Given the description of an element on the screen output the (x, y) to click on. 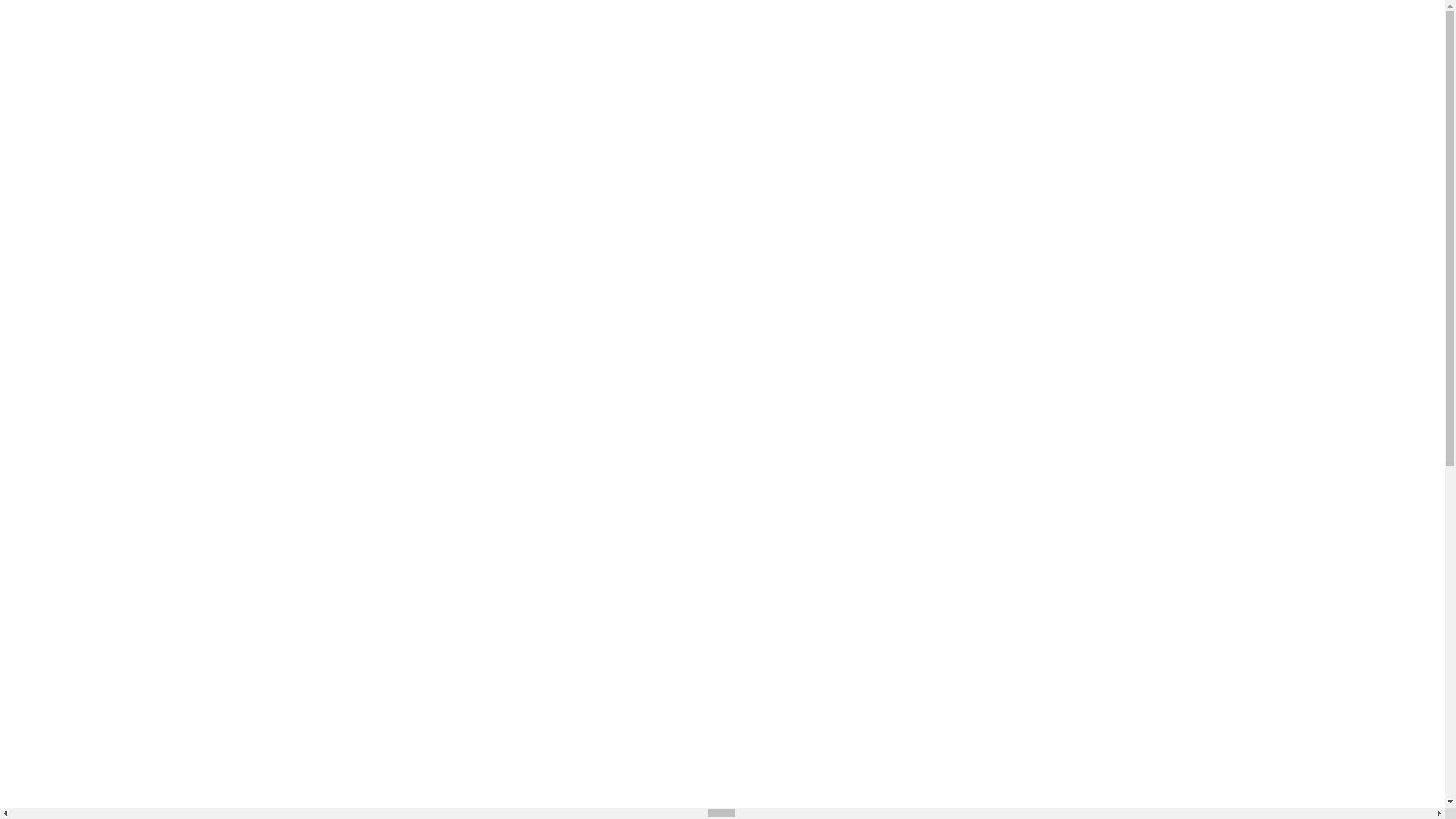
  Italia Element type: text (476, 291)
  Deutsch Element type: text (475, 318)
reomax fuse Element type: hover (101, 388)
  English Element type: text (474, 18)
